Given the description of an element on the screen output the (x, y) to click on. 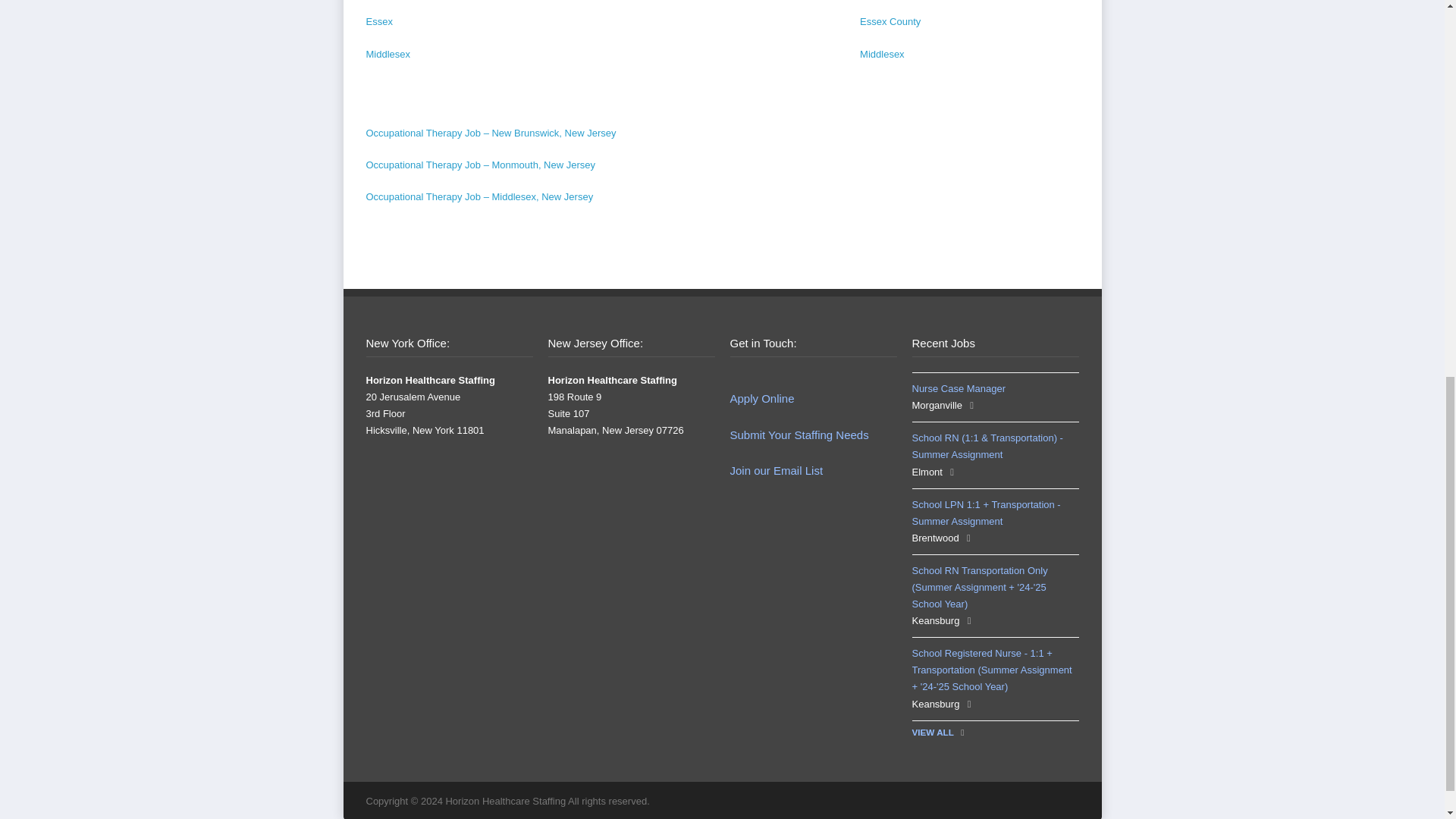
Instagram (1002, 800)
Pinterest (1063, 800)
Occupational Therapist Job in Middlesex NJ (478, 196)
Occupational Therapist Job in Monmouth NJ (480, 164)
LinkedIn (1032, 800)
Occupational Therapist Job in New Brunswick (490, 132)
Facebook (971, 800)
Twitter (941, 800)
